Given the description of an element on the screen output the (x, y) to click on. 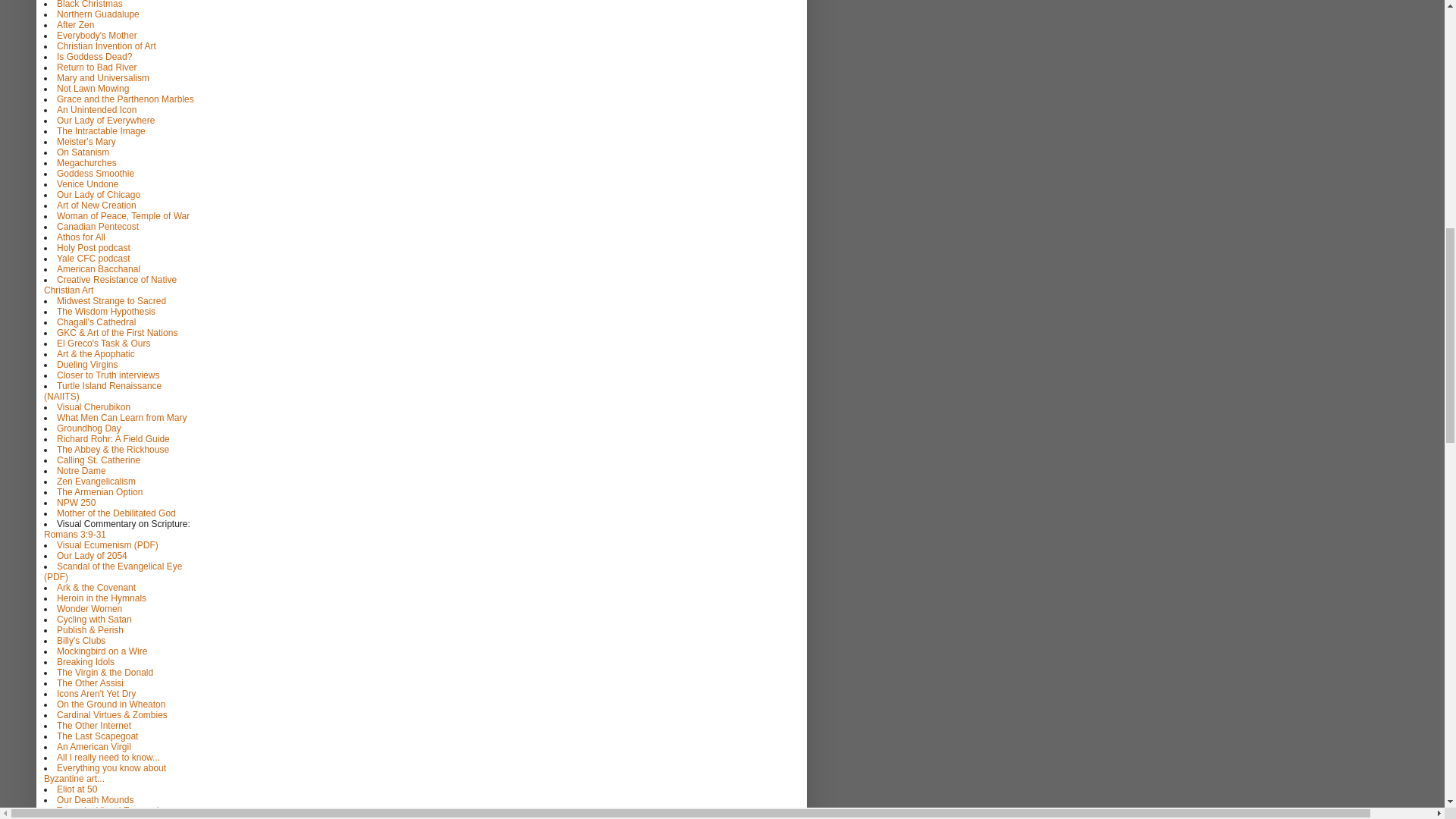
Our Lady of Everywhere (105, 120)
Northern Guadalupe (97, 14)
After Zen (75, 24)
Everybody's Mother (96, 35)
Meister's Mary (86, 141)
Is Goddess Dead? (94, 56)
Black Christmas (89, 4)
Christian Invention of Art (105, 45)
The Intractable Image (100, 131)
Return to Bad River (96, 67)
An Unintended Icon (96, 109)
On Satanism (82, 152)
Not Lawn Mowing (92, 88)
Grace and the Parthenon Marbles (124, 99)
Mary and Universalism (102, 77)
